Given the description of an element on the screen output the (x, y) to click on. 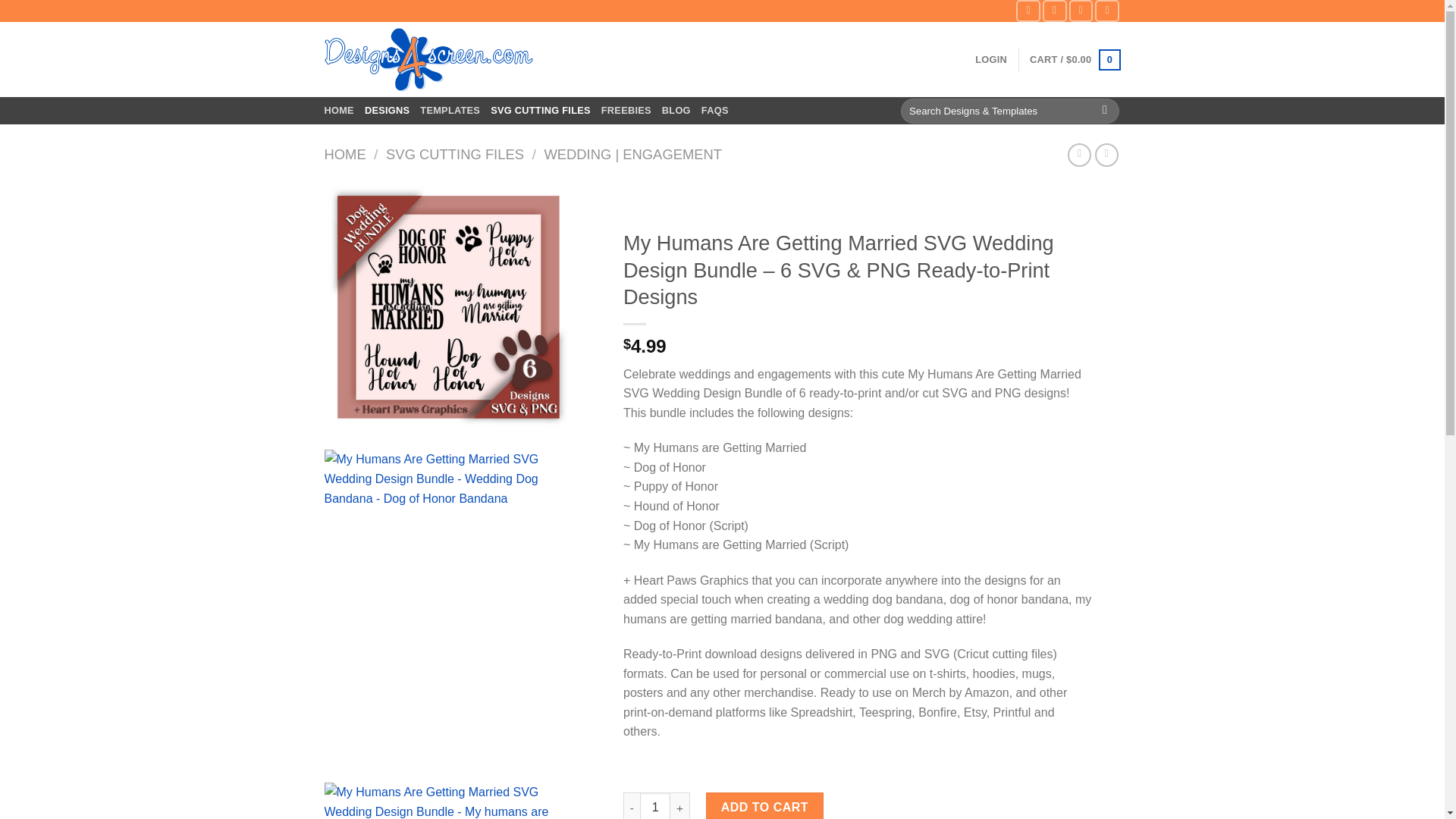
Follow on Instagram (1054, 11)
T Shirt Design Blog (676, 110)
Cart (1074, 59)
LOGIN (991, 59)
SVG CUTTING FILES (540, 110)
Screen Print Designs (338, 110)
FREEBIES (625, 110)
Send us an email (1080, 11)
FAQS (715, 110)
